Given the description of an element on the screen output the (x, y) to click on. 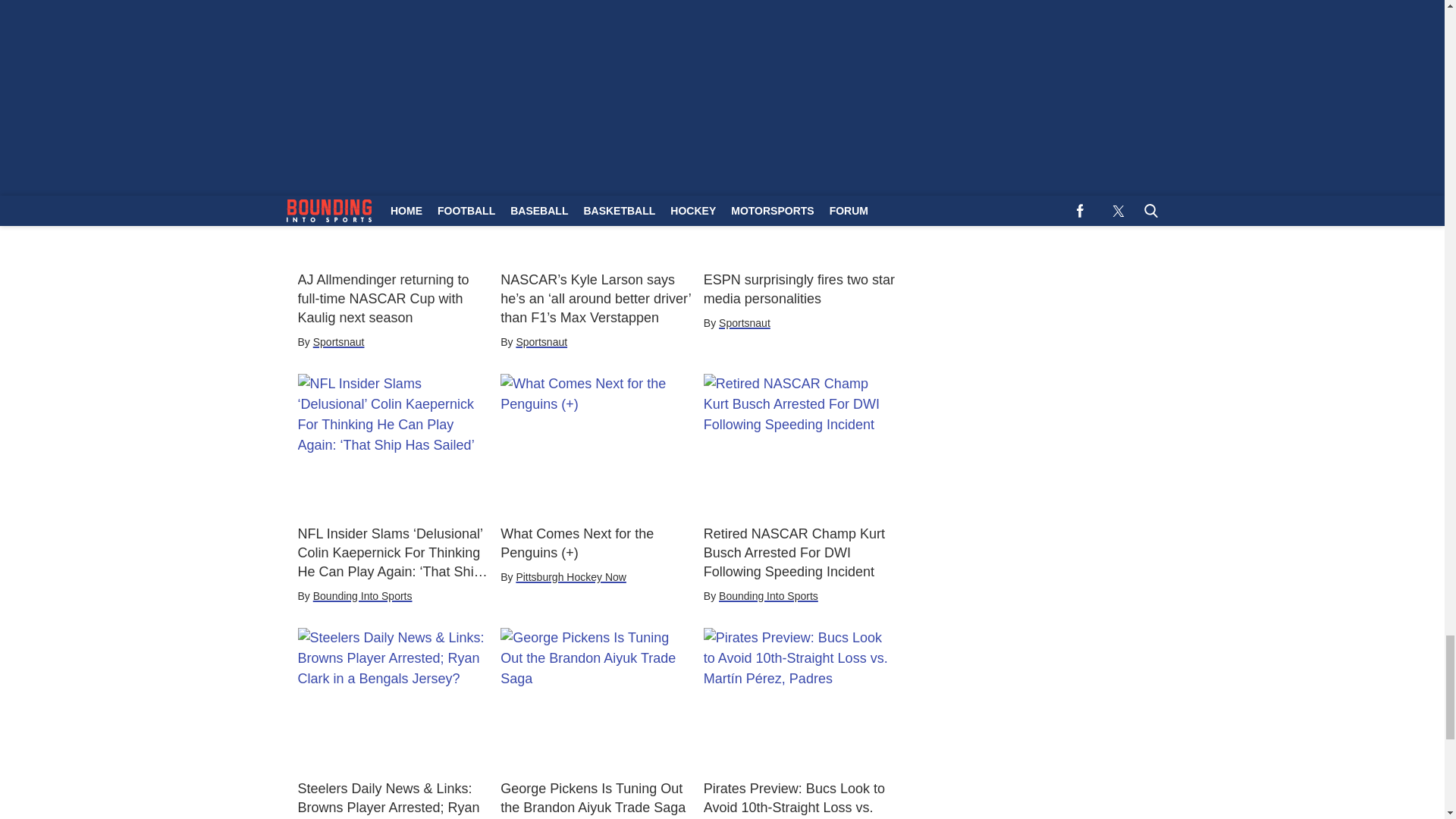
NASCAR CUP SERIES (595, 12)
Sportsnaut (541, 341)
JOE GIBBS RACING (511, 2)
NASCAR (798, 2)
MOTORSPORTS (427, 45)
KYLE BUSCH (622, 2)
RICHARD CHILDRESS RACING (466, 17)
KYLE PETTY (717, 2)
Sportsnaut (339, 341)
